Given the description of an element on the screen output the (x, y) to click on. 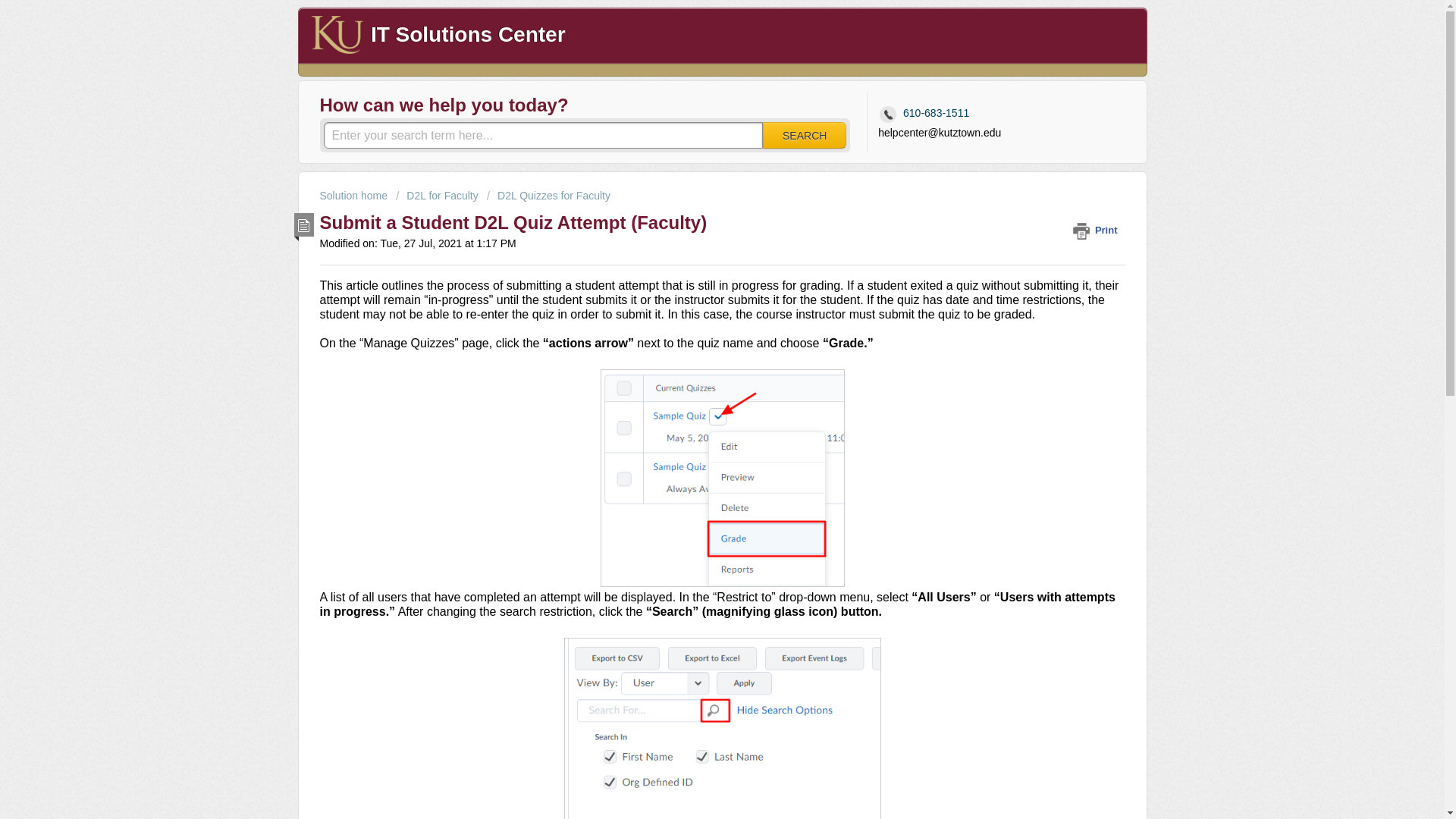
D2L for Faculty (437, 195)
Solution home (355, 195)
Print (1098, 230)
D2L Quizzes for Faculty (548, 195)
SEARCH (803, 135)
Print this Article (1098, 230)
610-683-1511 (926, 114)
